Given the description of an element on the screen output the (x, y) to click on. 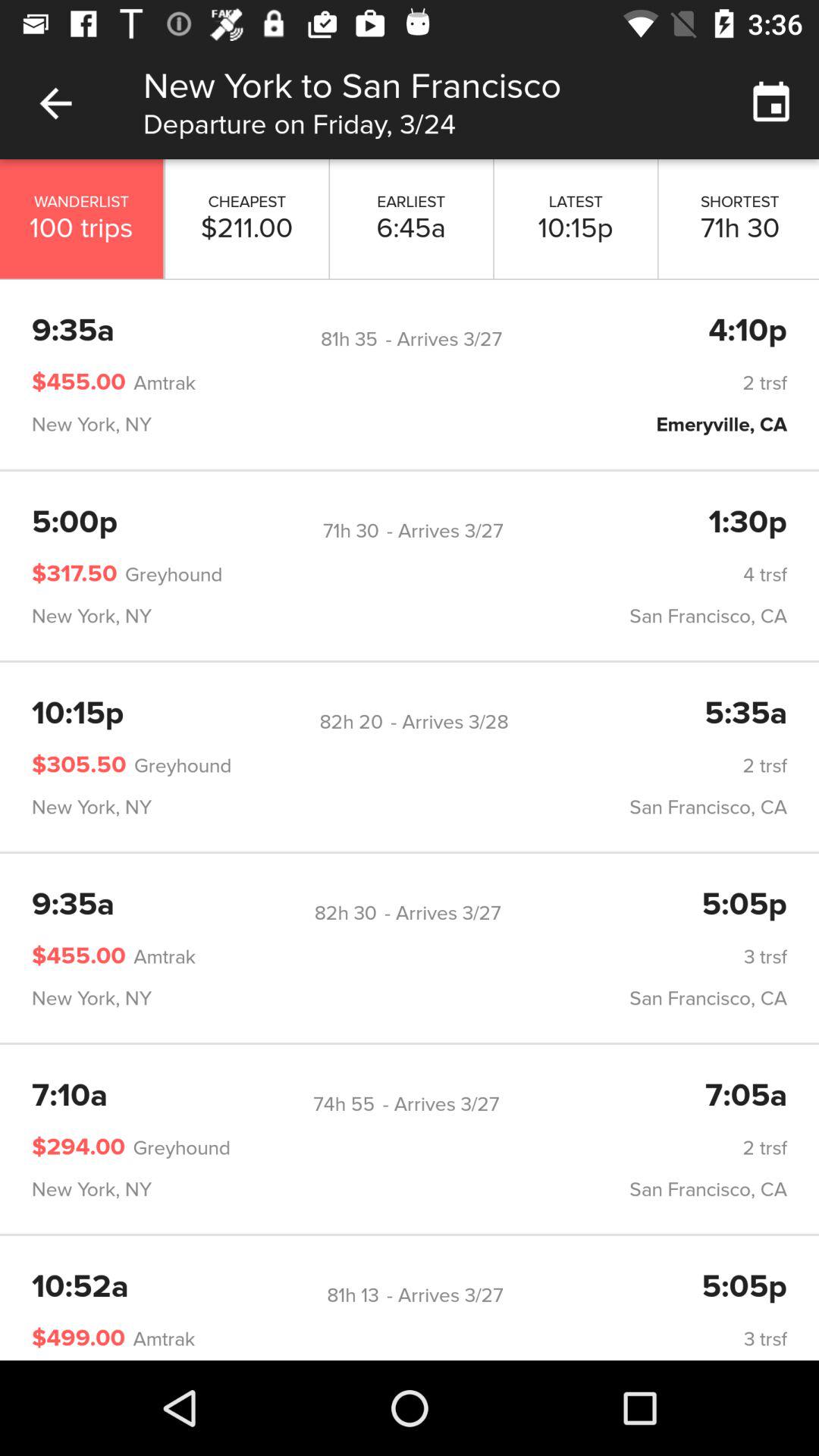
tap the item above the 2 trsf icon (350, 722)
